Given the description of an element on the screen output the (x, y) to click on. 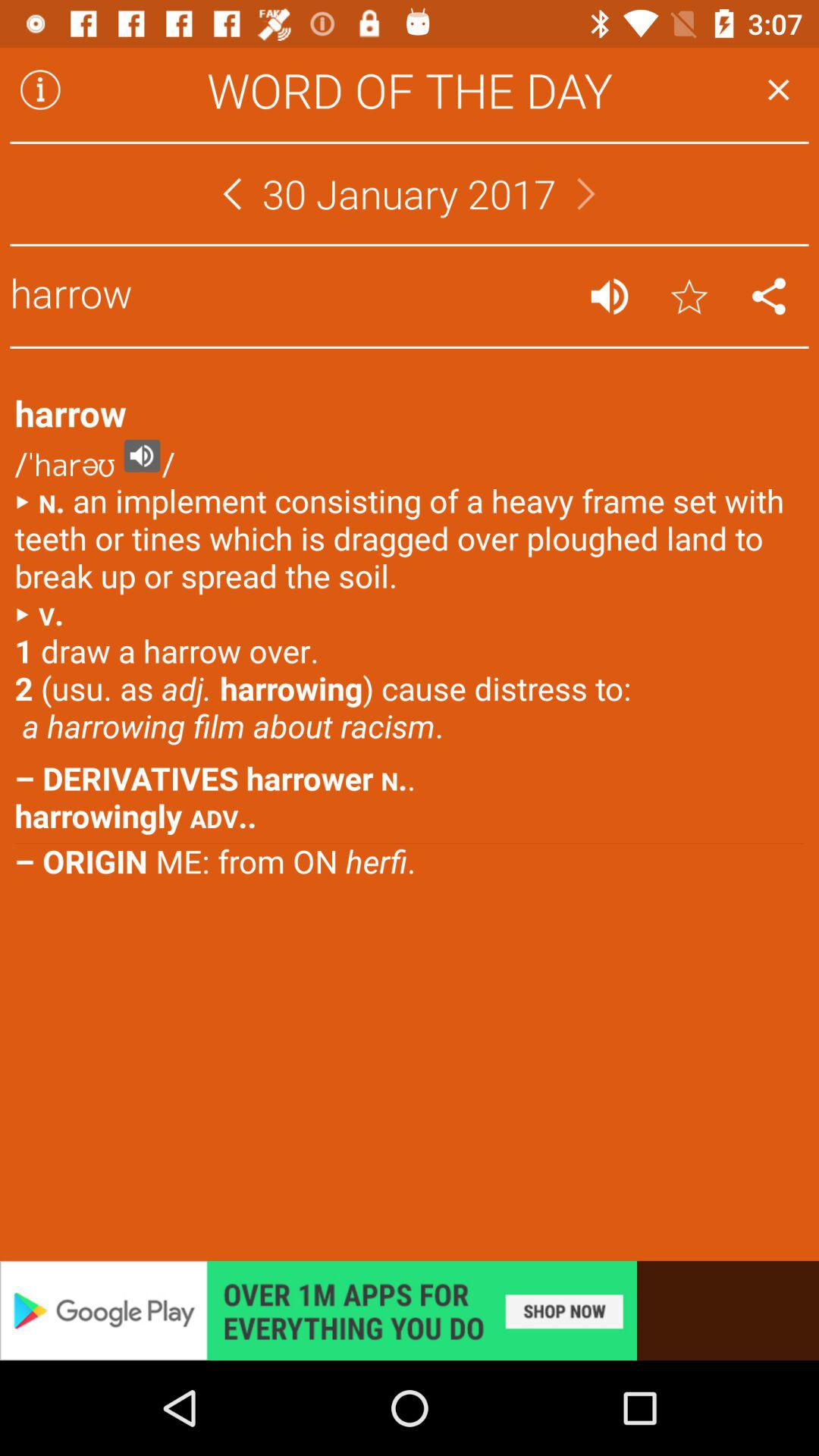
exit word of the day (778, 89)
